Given the description of an element on the screen output the (x, y) to click on. 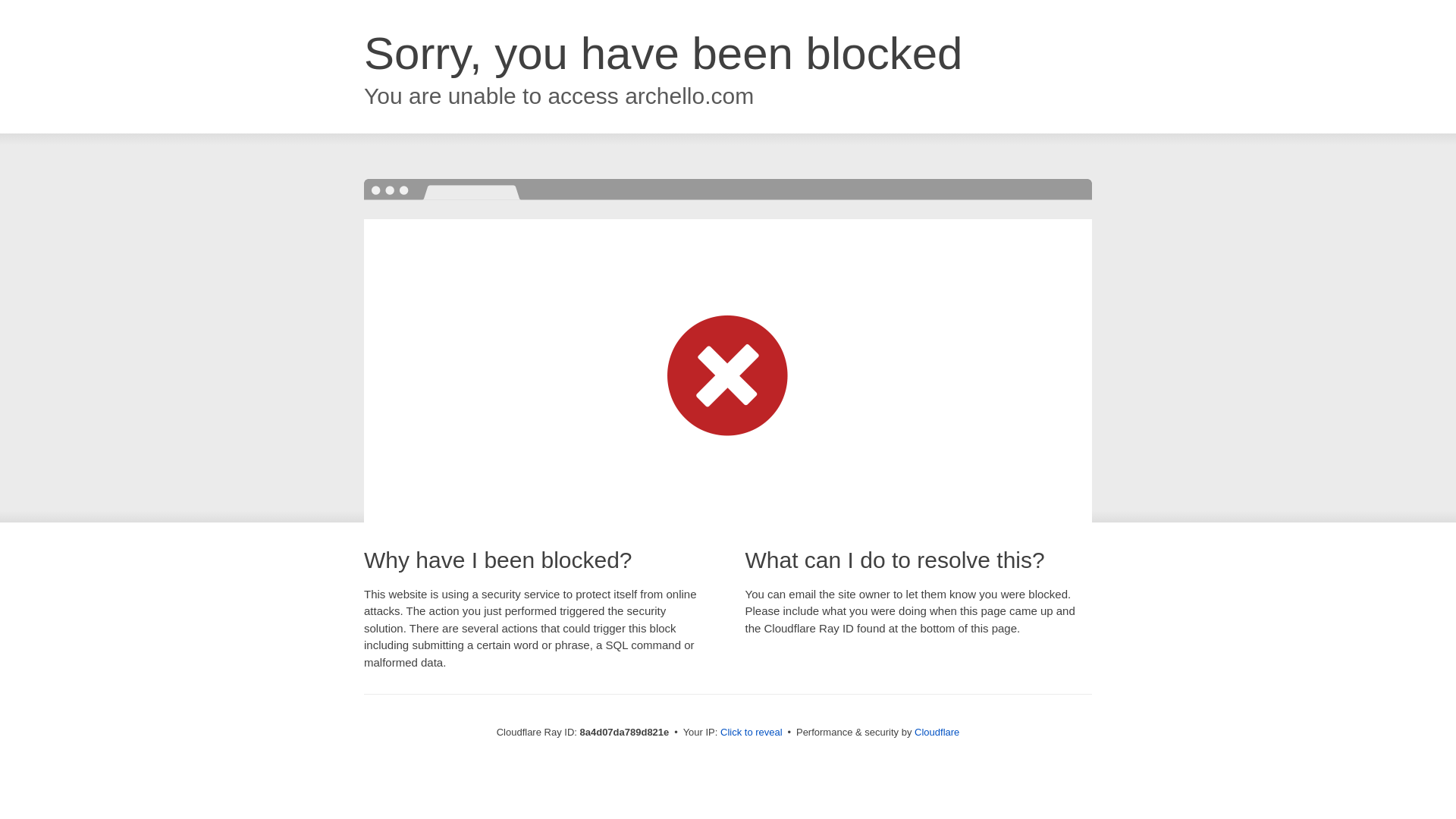
Click to reveal (751, 732)
Cloudflare (936, 731)
